Given the description of an element on the screen output the (x, y) to click on. 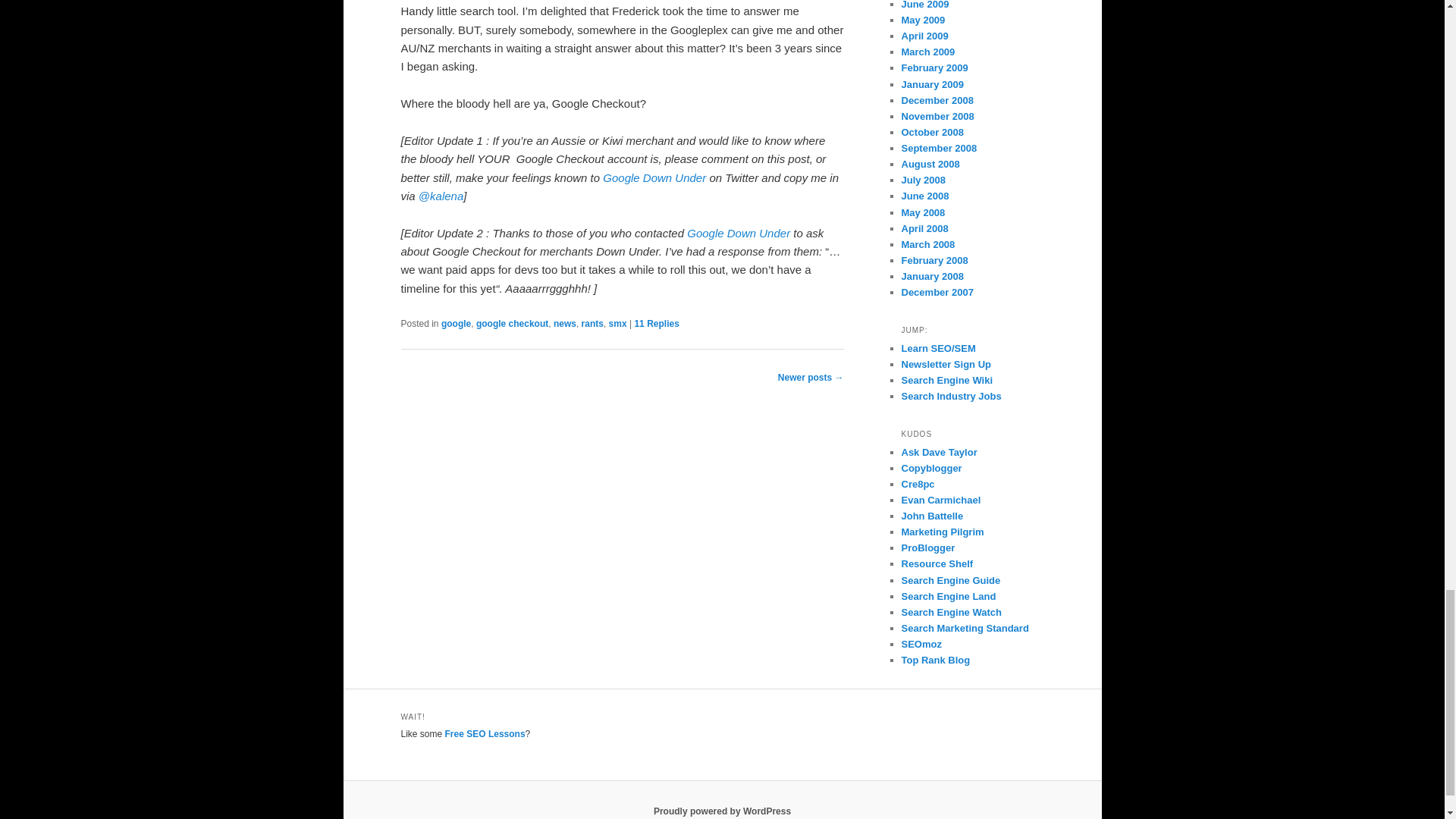
news (564, 323)
11 Replies (655, 323)
google checkout (512, 323)
google down under (654, 177)
Google Down Under (738, 232)
smx (617, 323)
rants (592, 323)
google (455, 323)
Google Down Under (654, 177)
